Given the description of an element on the screen output the (x, y) to click on. 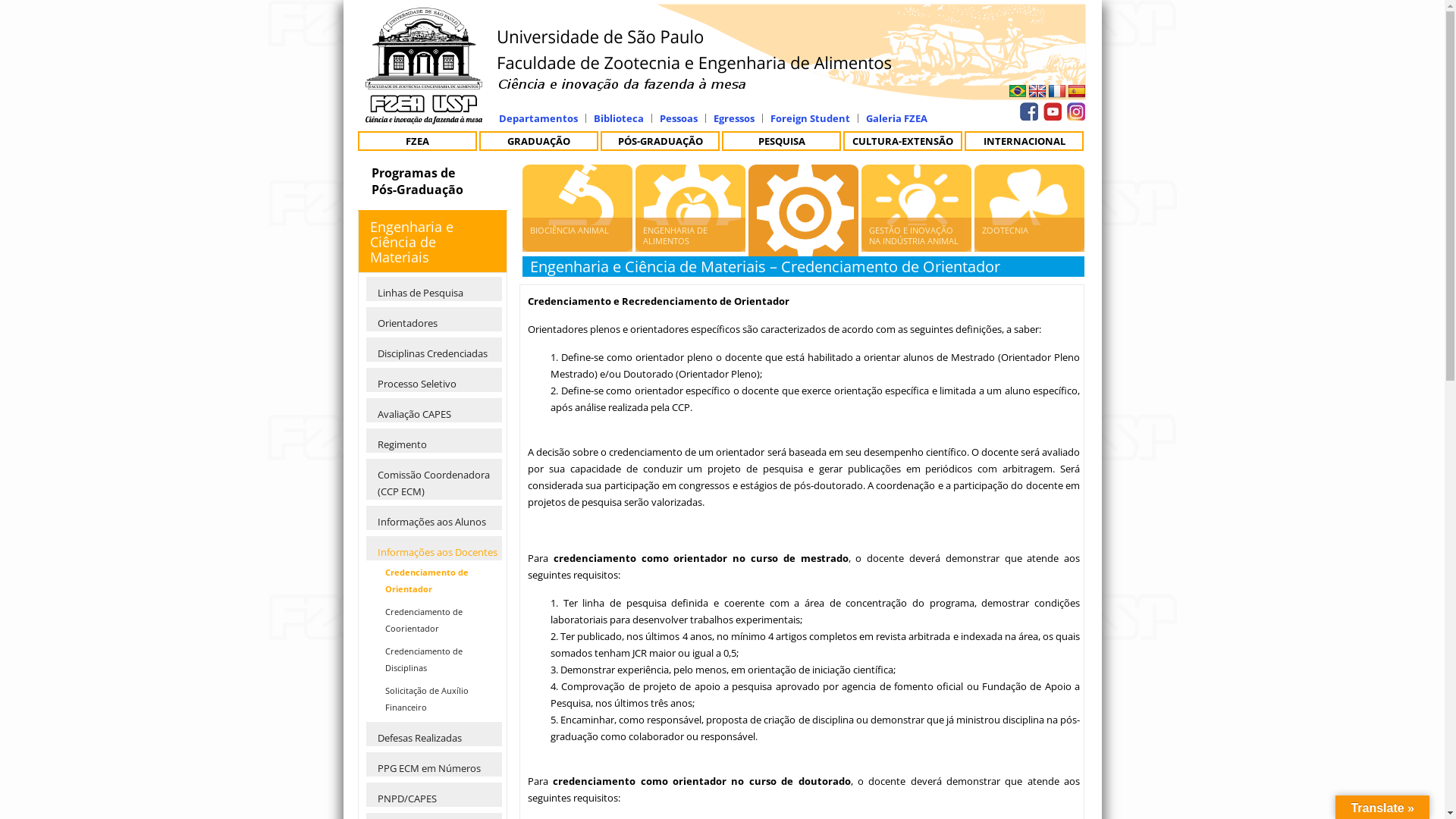
  Element type: text (1049, 108)
Spanish Element type: hover (1076, 90)
Processo Seletivo Element type: text (434, 379)
  Element type: text (1017, 91)
Credenciamento de Coorientador Element type: text (437, 620)
Credenciamento de Orientador Element type: text (437, 580)
  Element type: text (1037, 91)
Egressos Element type: text (732, 117)
FZEA-USP Element type: hover (423, 116)
FZEA Element type: text (416, 140)
Galeria FZEA Element type: text (896, 117)
Defesas Realizadas Element type: text (434, 733)
  Element type: text (1027, 108)
PNPD/CAPES Element type: text (434, 794)
ZOOTECNIA Element type: text (1029, 234)
PESQUISA Element type: text (780, 140)
Linhas de Pesquisa Element type: text (434, 288)
Foreign Student Element type: text (810, 117)
Orientadores Element type: text (434, 319)
  Element type: text (1074, 108)
Pessoas Element type: text (678, 117)
English Element type: hover (1037, 91)
Regimento Element type: text (434, 440)
Disciplinas Credenciadas Element type: text (434, 349)
INTERNACIONAL Element type: text (1023, 140)
ENGENHARIA DE ALIMENTOS Element type: text (690, 234)
Departamentos Element type: text (537, 117)
Biblioteca Element type: text (618, 117)
Credenciamento de Disciplinas Element type: text (437, 659)
French Element type: hover (1057, 90)
